Given the description of an element on the screen output the (x, y) to click on. 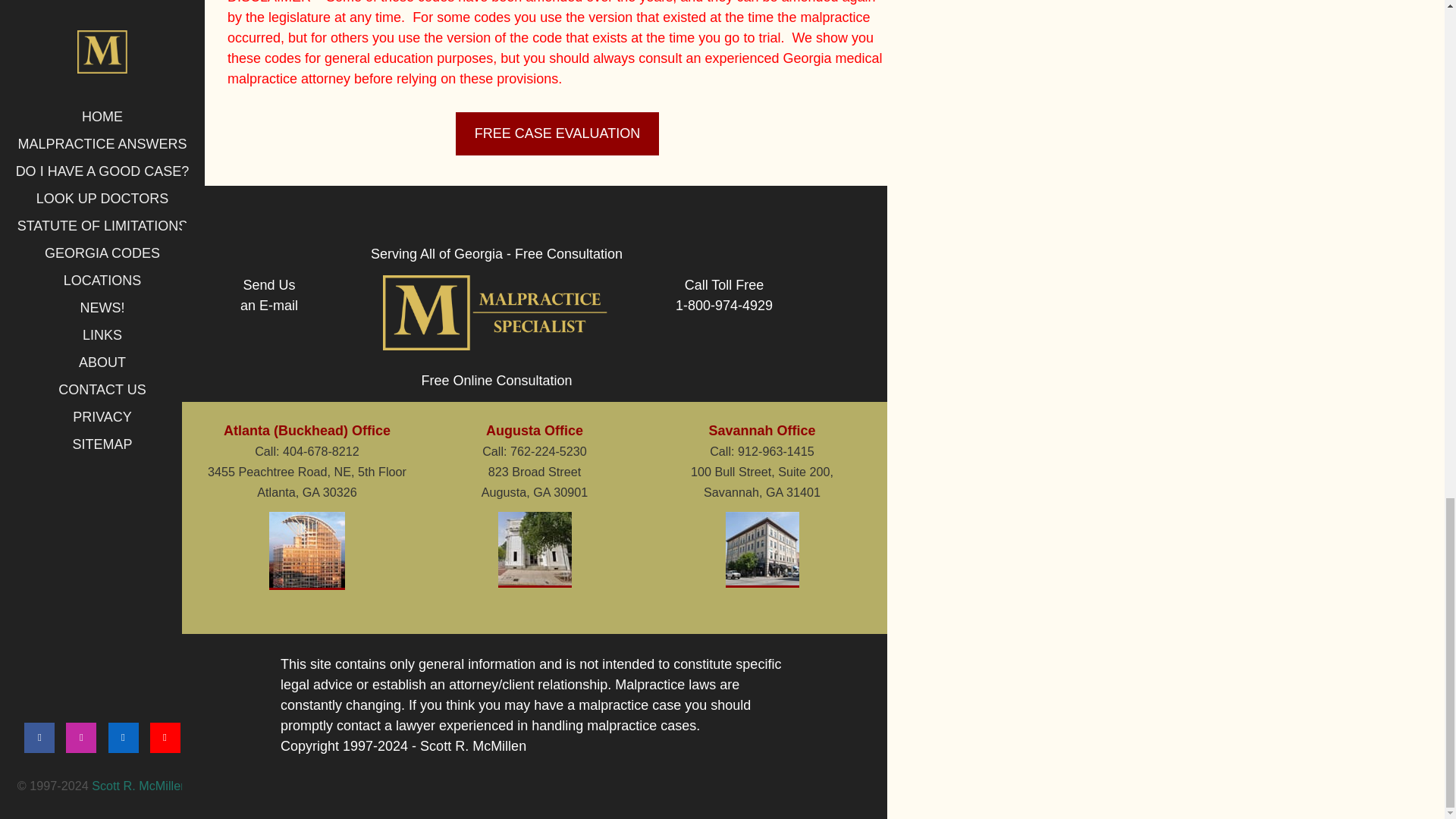
Free Online Consultation (496, 380)
FREE CASE EVALUATION (269, 294)
Do I have a good case? (557, 133)
Augusta Office (496, 380)
Savannah Office (534, 430)
